Given the description of an element on the screen output the (x, y) to click on. 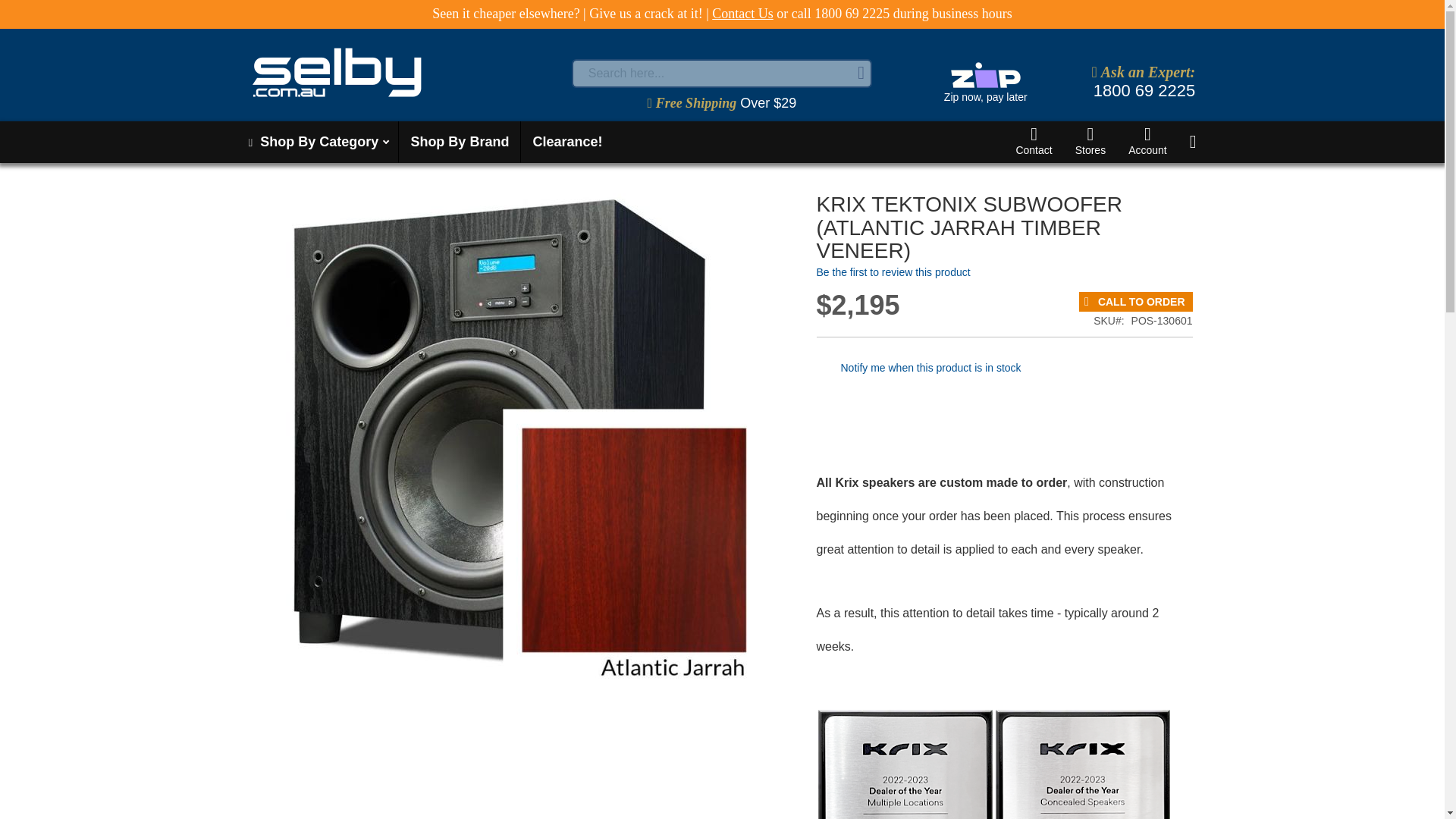
Shop By Category (316, 141)
Shop By Category (316, 141)
Selby Acoustics (337, 72)
Zip now, pay later (984, 82)
Contact Us (742, 13)
Availability (1135, 301)
Selby Acoustics (406, 72)
Notify me when this product is in stock (930, 367)
